Given the description of an element on the screen output the (x, y) to click on. 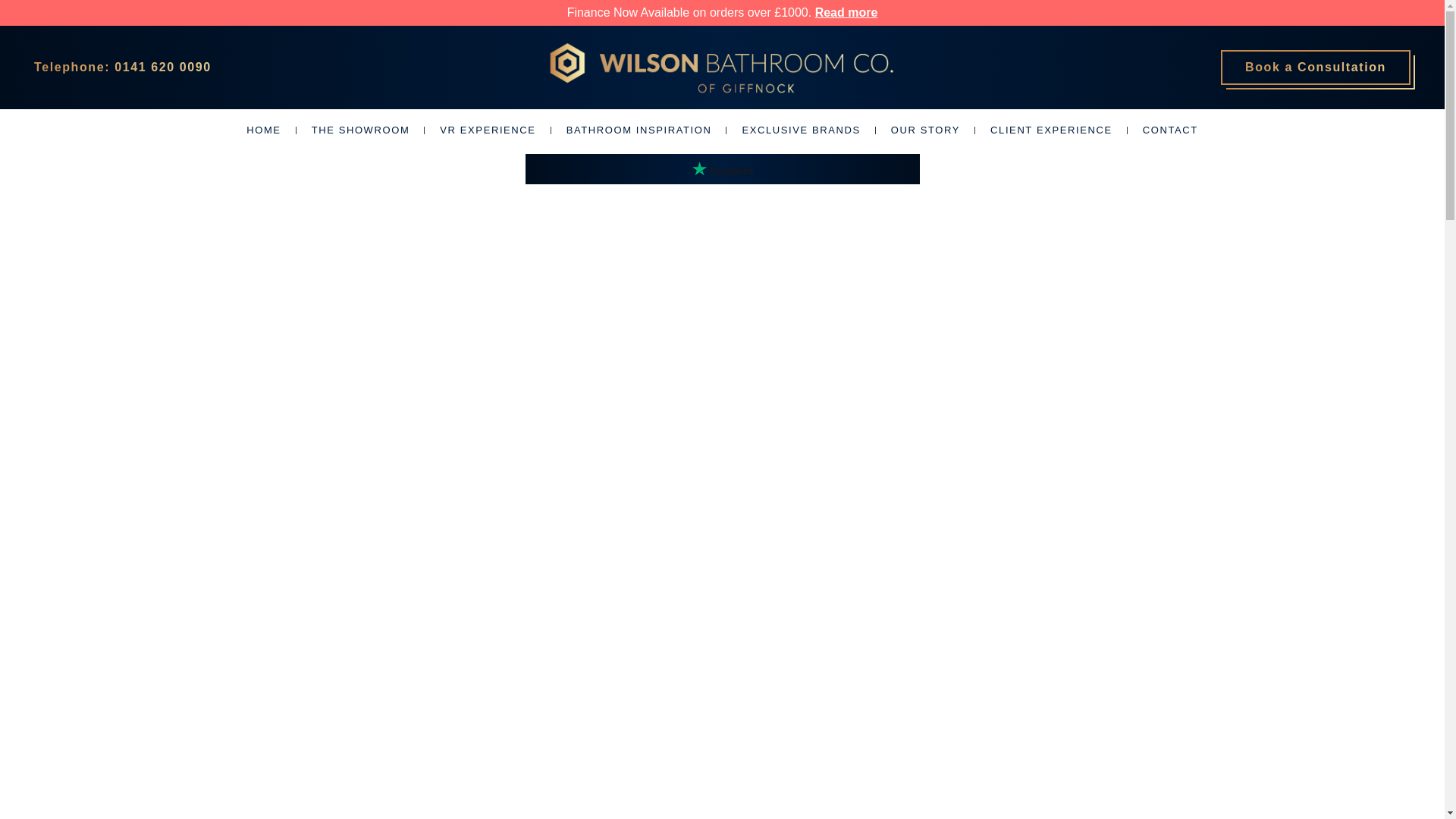
Wilson Bathroom Co. (721, 66)
CONTACT (1169, 129)
HOME (263, 129)
THE SHOWROOM (361, 129)
EXCLUSIVE BRANDS (800, 129)
CLIENT EXPERIENCE (1050, 129)
BATHROOM INSPIRATION (638, 129)
OUR STORY (925, 129)
Read more (846, 11)
Customer reviews powered by Trustpilot (721, 168)
Book a Consultation (1315, 67)
VR EXPERIENCE (487, 129)
